Given the description of an element on the screen output the (x, y) to click on. 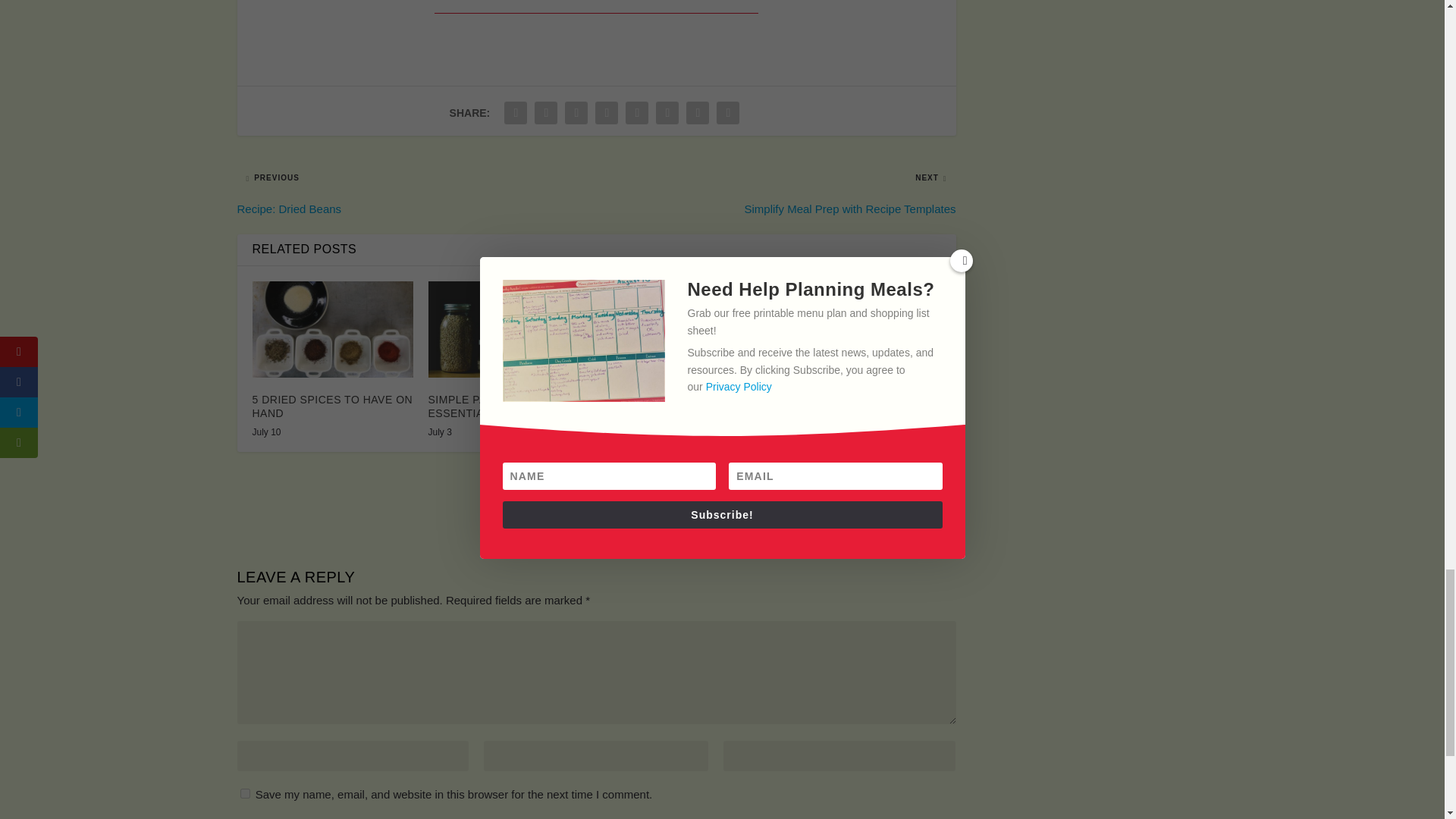
Share "Simple Freezer Essentials" via Facebook (515, 112)
Simple Refrigerator Essentials (859, 329)
Share "Simple Freezer Essentials" via Email (697, 112)
Share "Simple Freezer Essentials" via Twitter (545, 112)
4 Ways an Organized Kitchen Helps You Cook (684, 329)
Share "Simple Freezer Essentials" via LinkedIn (667, 112)
Share "Simple Freezer Essentials" via Print (727, 112)
Share "Simple Freezer Essentials" via Pinterest (636, 112)
5 Dried Spices To Have On Hand (331, 329)
Simple Pantry Essentials (508, 329)
yes (244, 793)
Share "Simple Freezer Essentials" via Tumblr (606, 112)
Post Comment (911, 817)
